Given the description of an element on the screen output the (x, y) to click on. 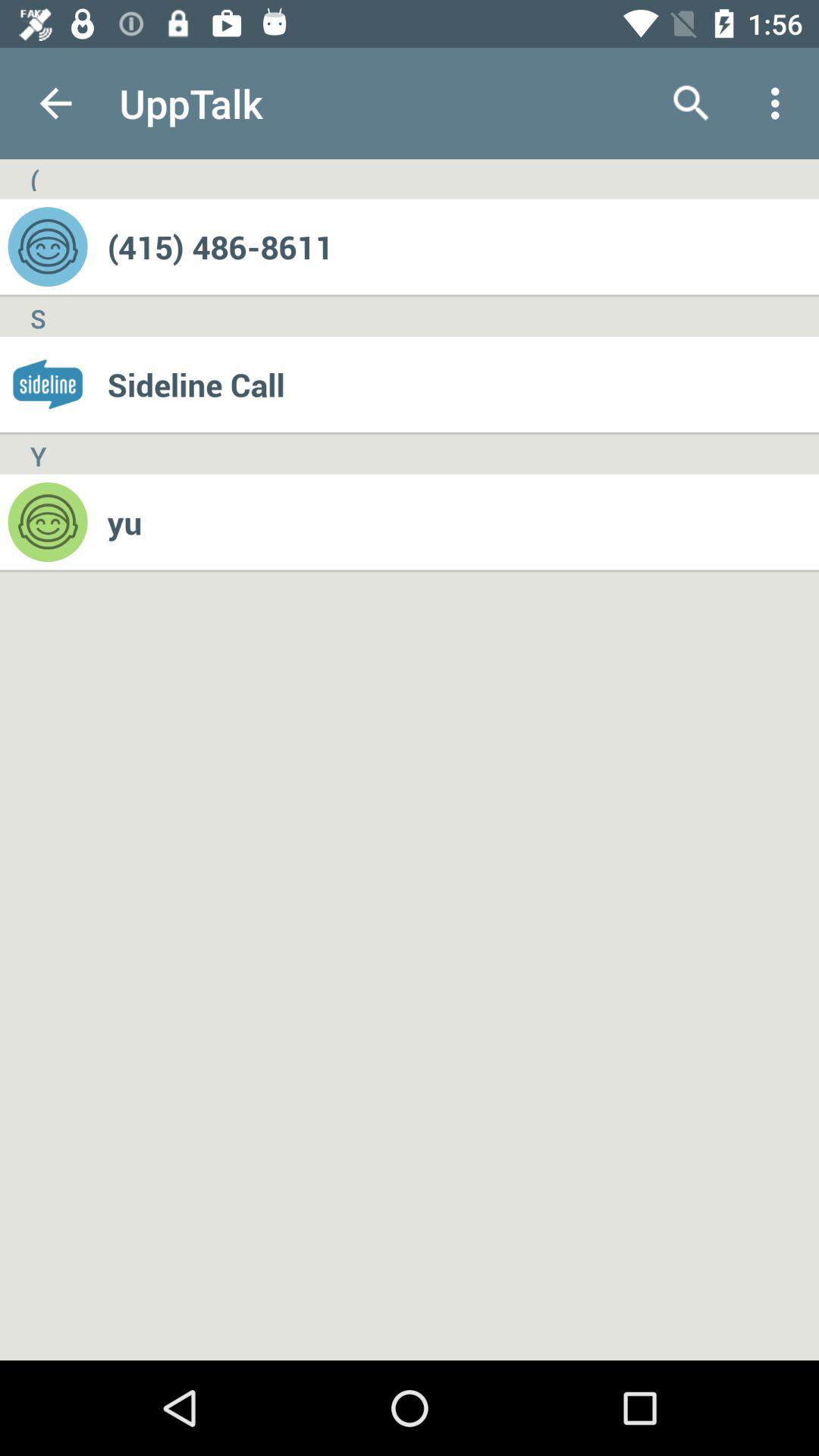
tap the icon above (415) 486-8611 (691, 103)
